Given the description of an element on the screen output the (x, y) to click on. 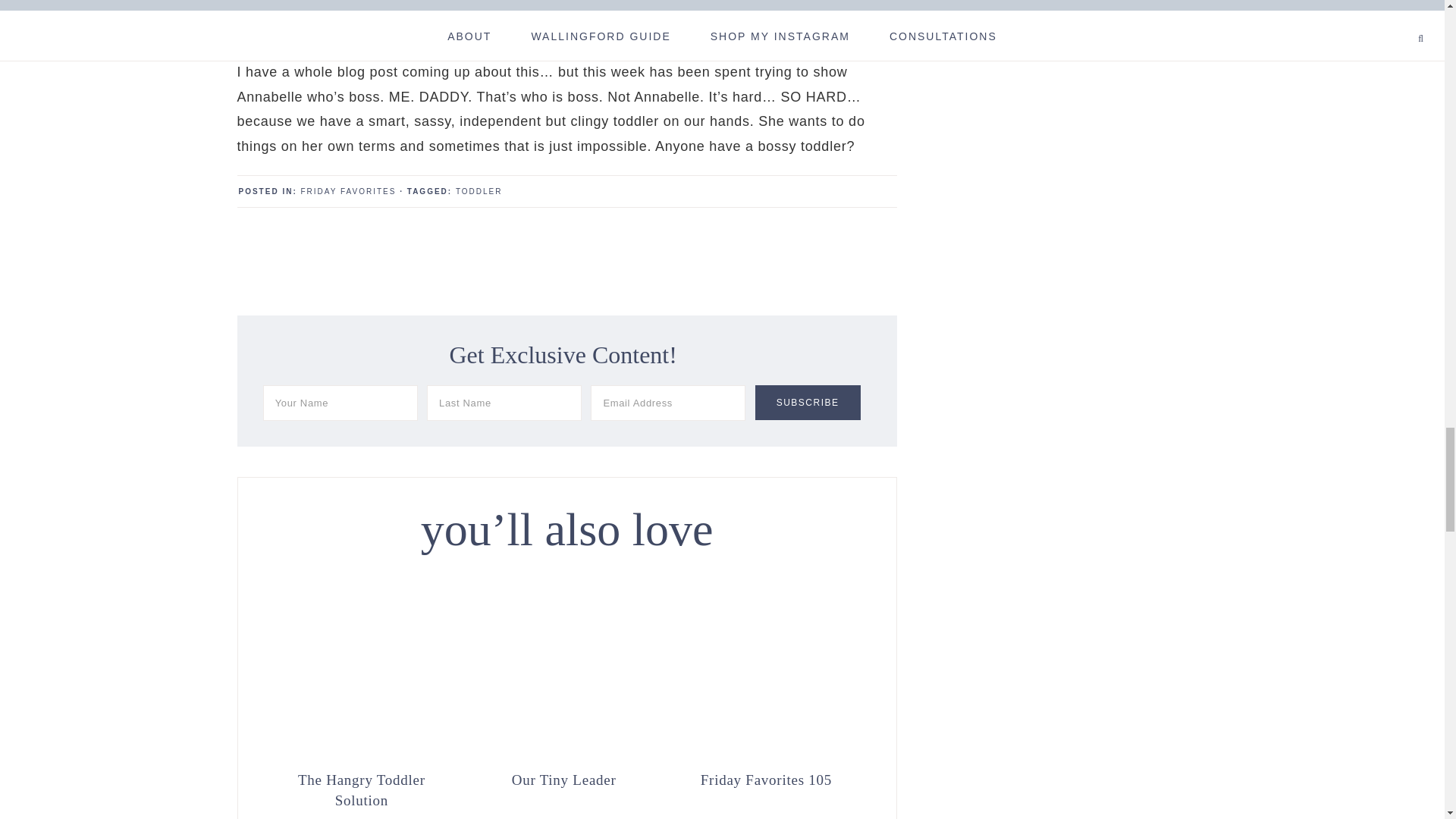
Permanent Link to Friday Favorites 105 (766, 755)
The Hangry Toddler Solution (361, 788)
Permanent Link to The Hangry Toddler Solution (361, 788)
FRIDAY FAVORITES (348, 191)
Permanent Link to Our Tiny Leader (563, 778)
TODDLER (478, 191)
Subscribe (807, 402)
Permanent Link to The Hangry Toddler Solution (361, 755)
Permanent Link to Friday Favorites 105 (766, 778)
Subscribe (807, 402)
